Given the description of an element on the screen output the (x, y) to click on. 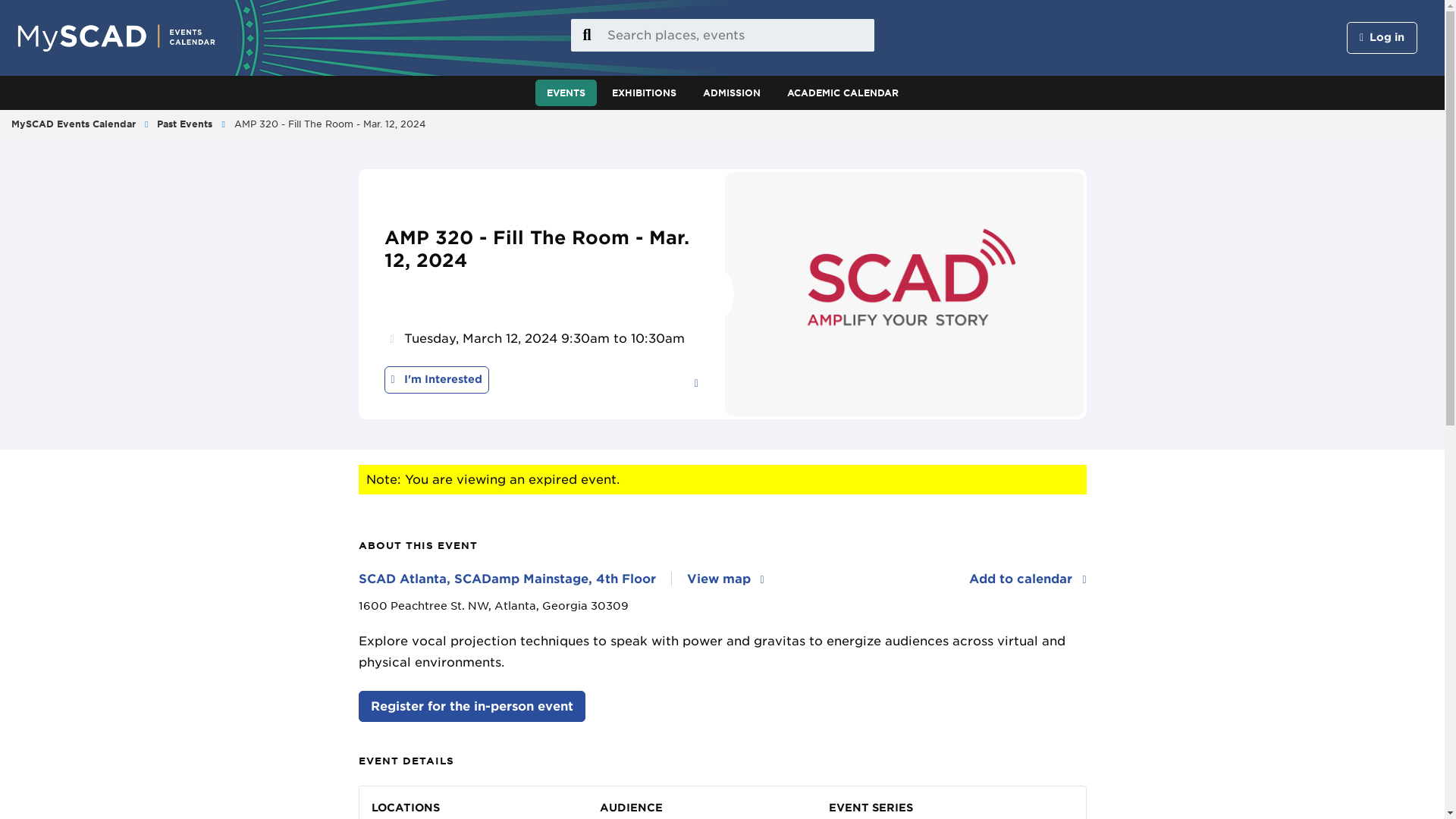
Register for the in-person event (471, 706)
ADMISSION (731, 92)
MySCAD Events Calendar (73, 123)
Log in (1381, 38)
I'm Interested (435, 379)
EXHIBITIONS (643, 92)
SCAD Atlanta, SCADamp Mainstage, 4th Floor (514, 578)
Add to calendar (1027, 579)
View map (725, 579)
Past Events (184, 123)
